Given the description of an element on the screen output the (x, y) to click on. 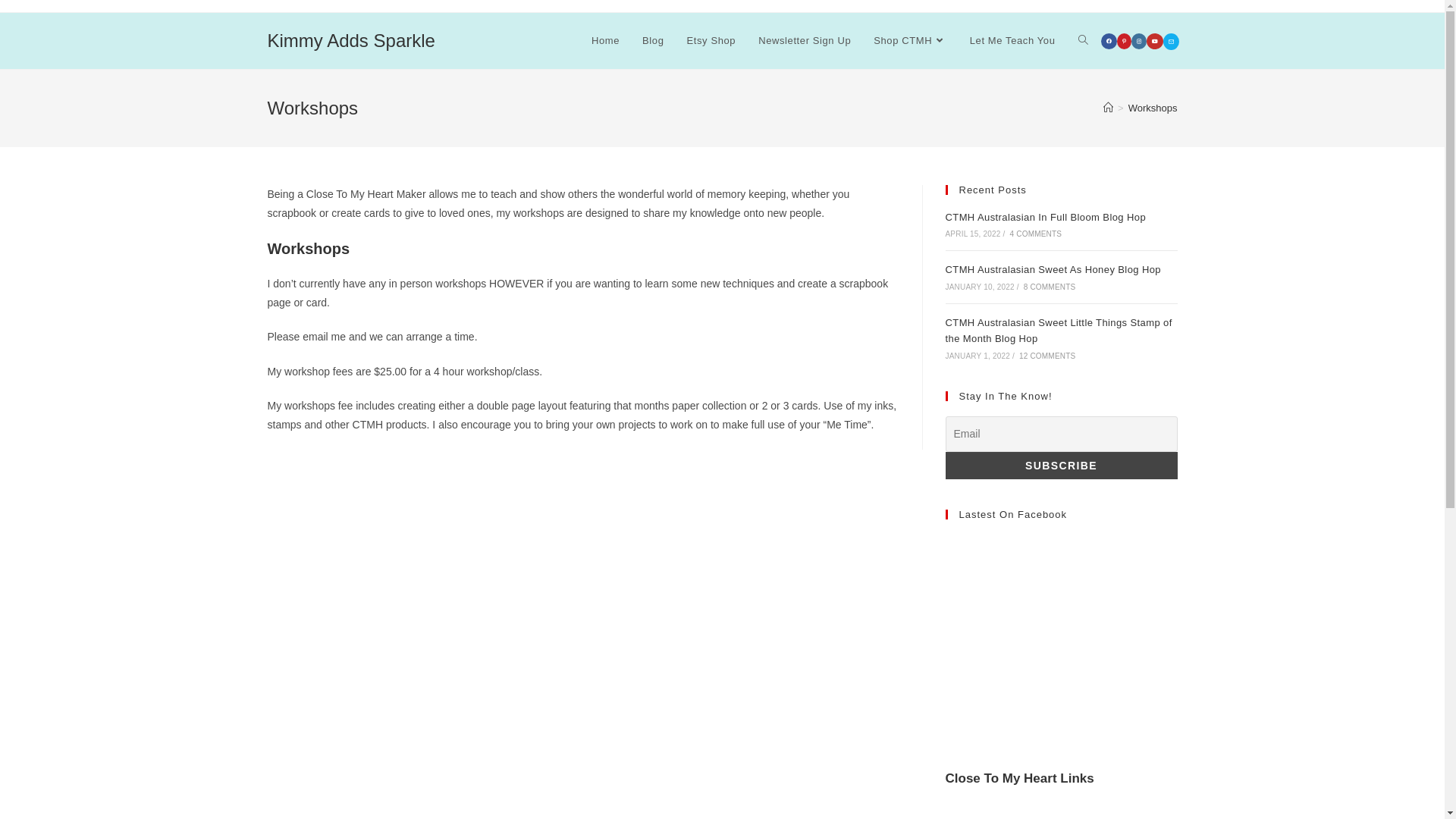
Advertisement Element type: hover (1060, 644)
Kimmy Adds Sparkle Element type: text (350, 40)
Newsletter Sign Up Element type: text (804, 40)
Workshops Element type: text (1152, 107)
Blog Element type: text (652, 40)
Shop CTMH Element type: text (910, 40)
Let Me Teach You Element type: text (1012, 40)
Toggle website search Element type: text (1082, 40)
4 COMMENTS Element type: text (1036, 233)
Home Element type: text (605, 40)
CTMH Australasian Sweet As Honey Blog Hop Element type: text (1052, 269)
8 COMMENTS Element type: text (1049, 286)
Subscribe Element type: text (1060, 465)
CTMH Australasian In Full Bloom Blog Hop Element type: text (1044, 216)
12 COMMENTS Element type: text (1047, 355)
Etsy Shop Element type: text (710, 40)
